Given the description of an element on the screen output the (x, y) to click on. 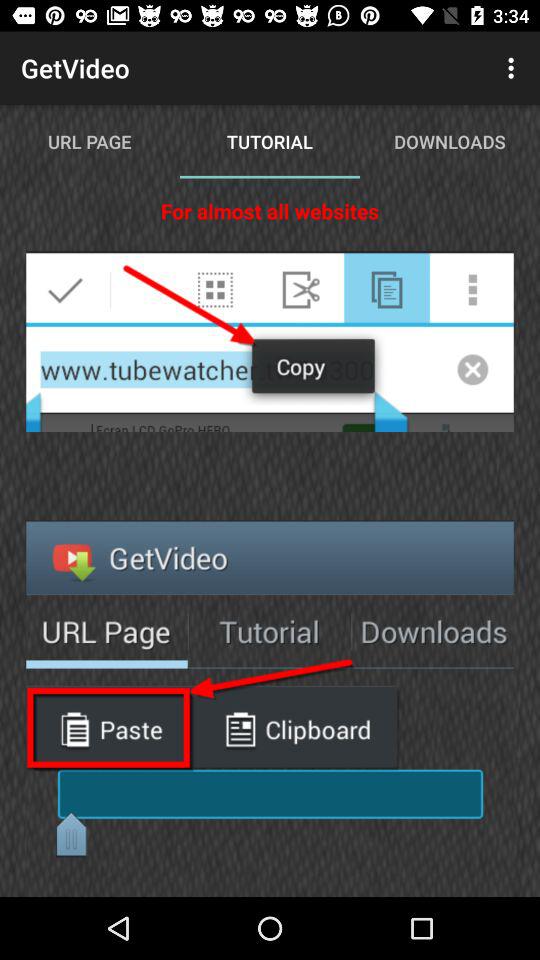
press icon above downloads app (513, 67)
